Given the description of an element on the screen output the (x, y) to click on. 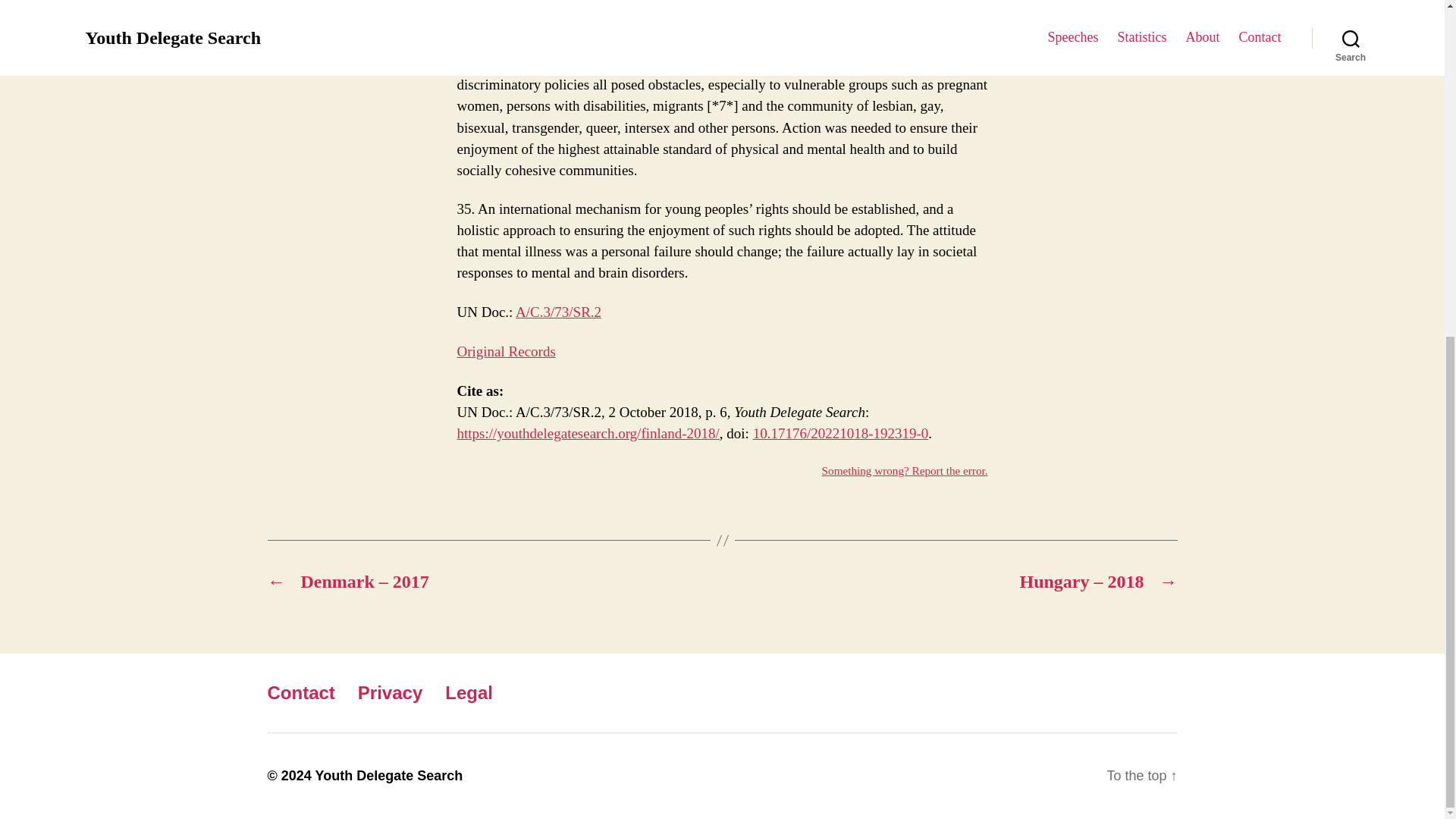
Contact (300, 692)
Youth Delegate Search (388, 775)
Privacy (390, 692)
Original Records (505, 351)
Legal (469, 692)
Something wrong? Report the error. (905, 470)
